Given the description of an element on the screen output the (x, y) to click on. 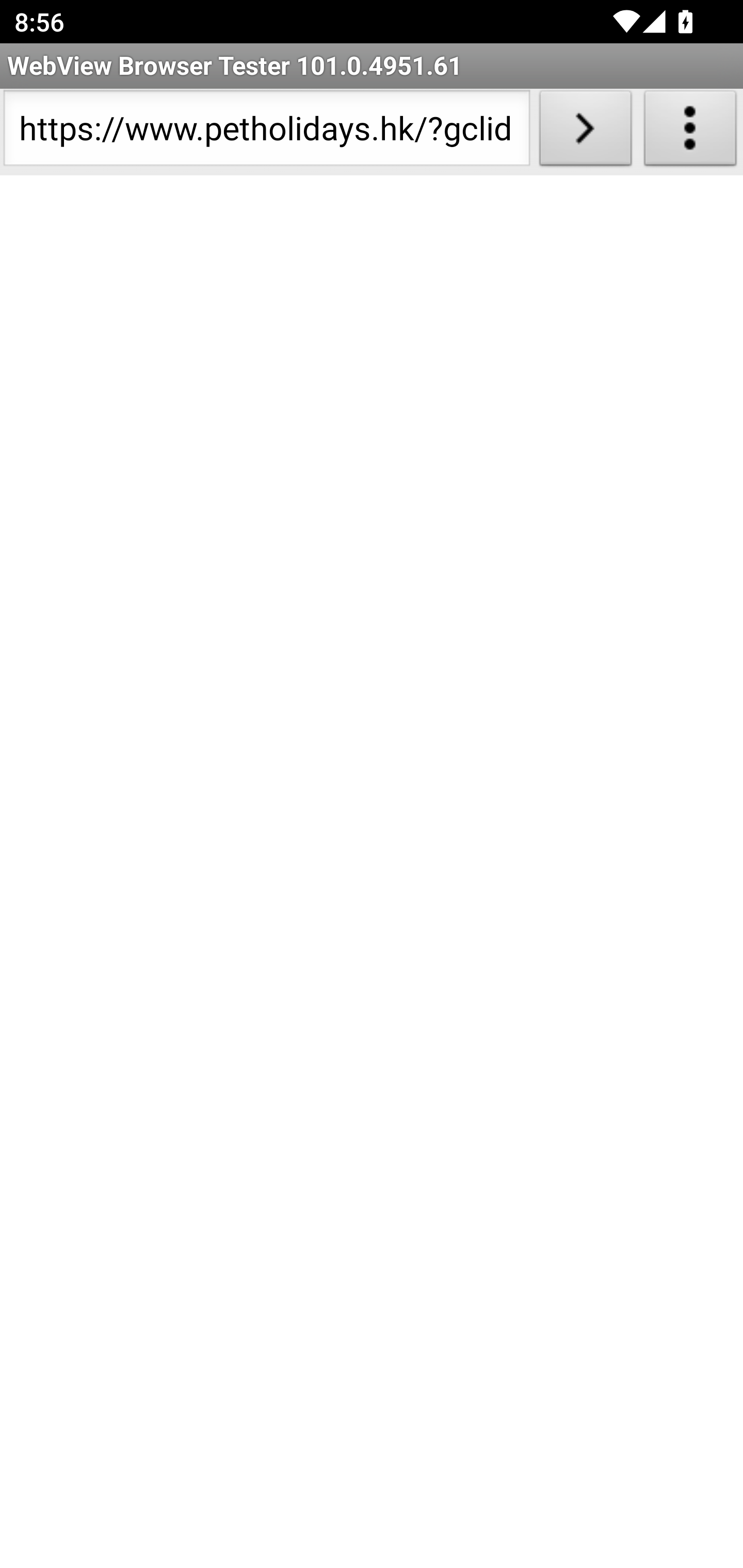
Load URL (585, 132)
About WebView (690, 132)
